Given the description of an element on the screen output the (x, y) to click on. 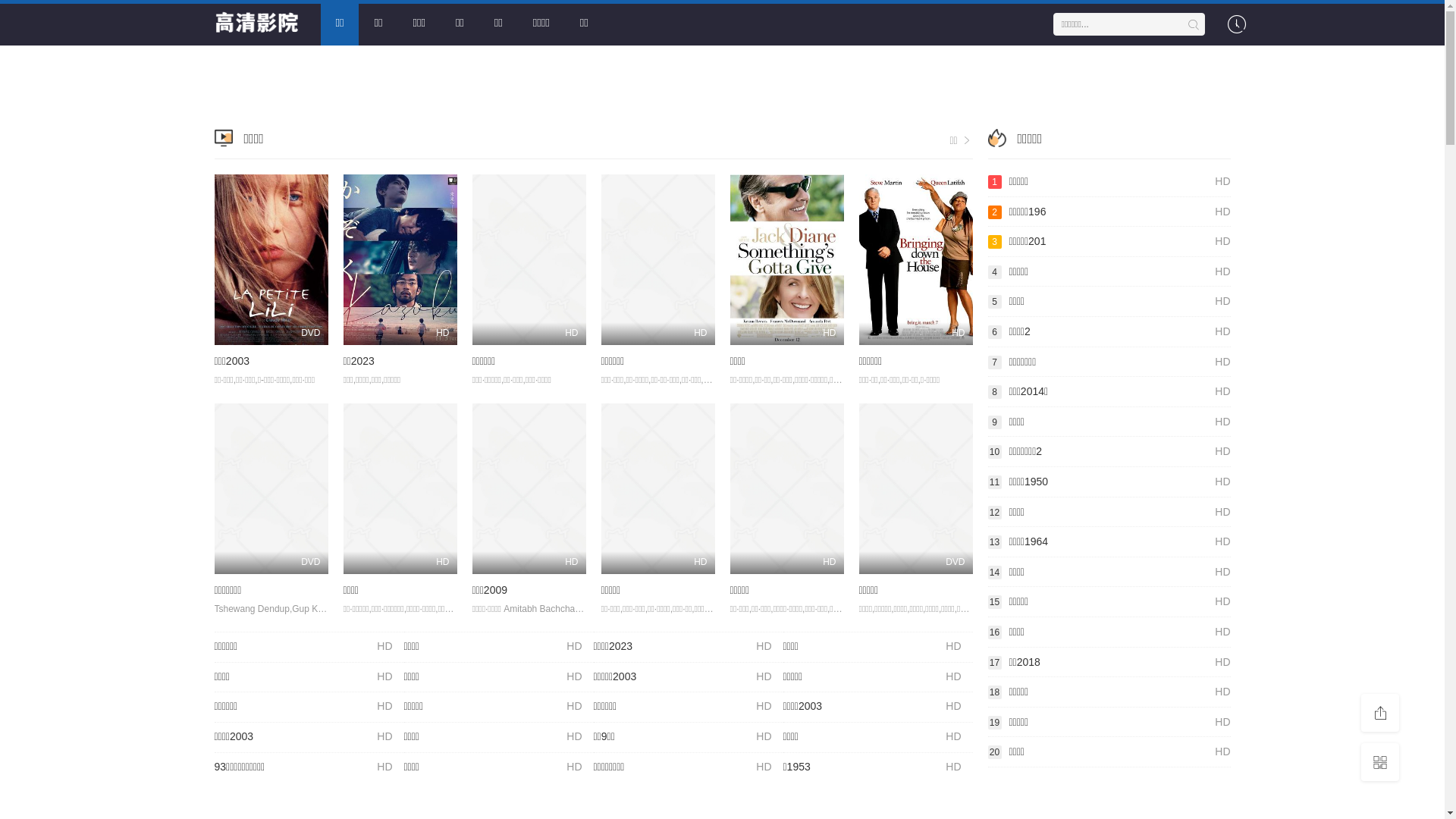
DVD Element type: text (915, 488)
HD Element type: text (528, 488)
HD Element type: text (657, 259)
HD Element type: text (528, 259)
HD Element type: text (786, 488)
HD Element type: text (657, 488)
HD Element type: text (399, 259)
HD Element type: text (399, 488)
HD Element type: text (786, 259)
DVD Element type: text (270, 259)
DVD Element type: text (270, 488)
HD Element type: text (915, 259)
